Given the description of an element on the screen output the (x, y) to click on. 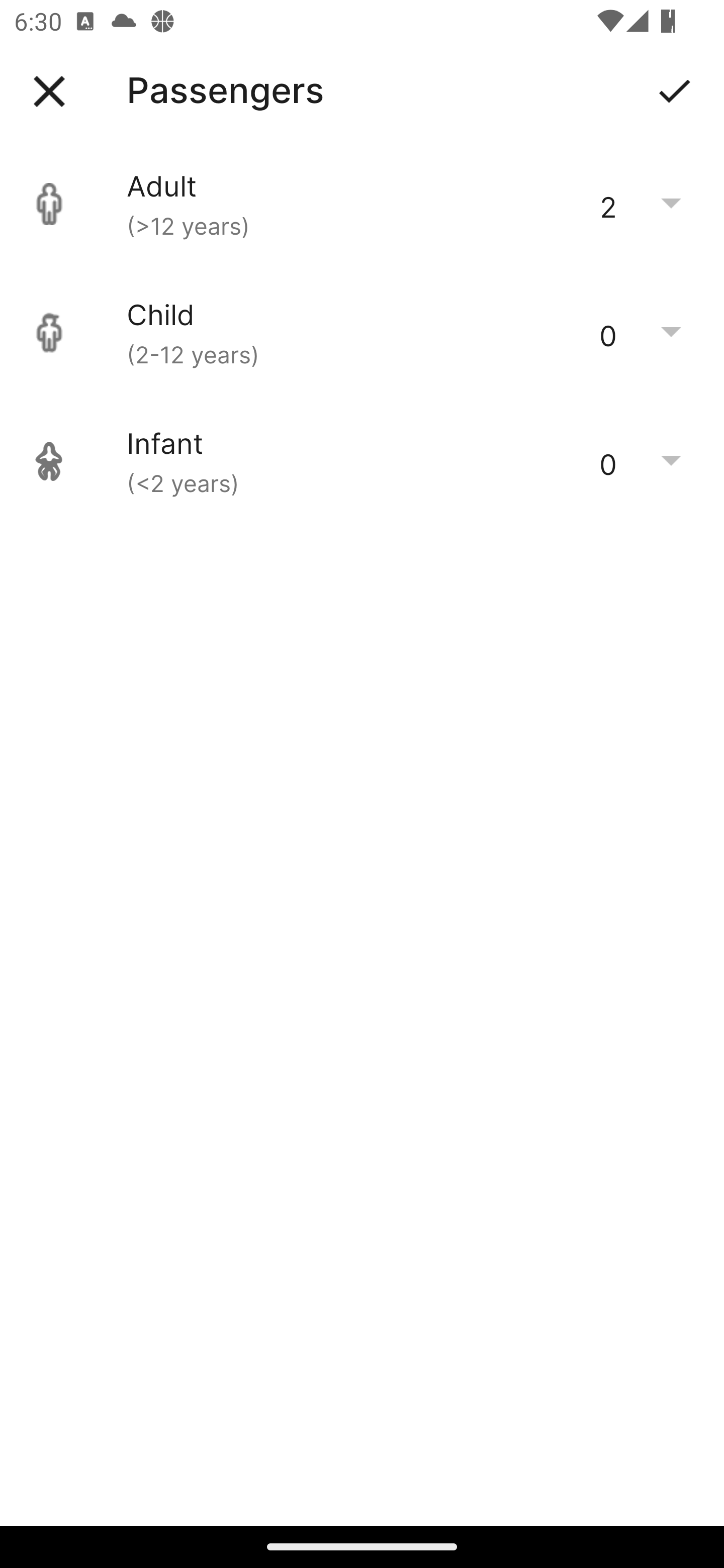
Adult (>12 years) 2 (362, 204)
Child (2-12 years) 0 (362, 332)
Infant (<2 years) 0 (362, 461)
